Given the description of an element on the screen output the (x, y) to click on. 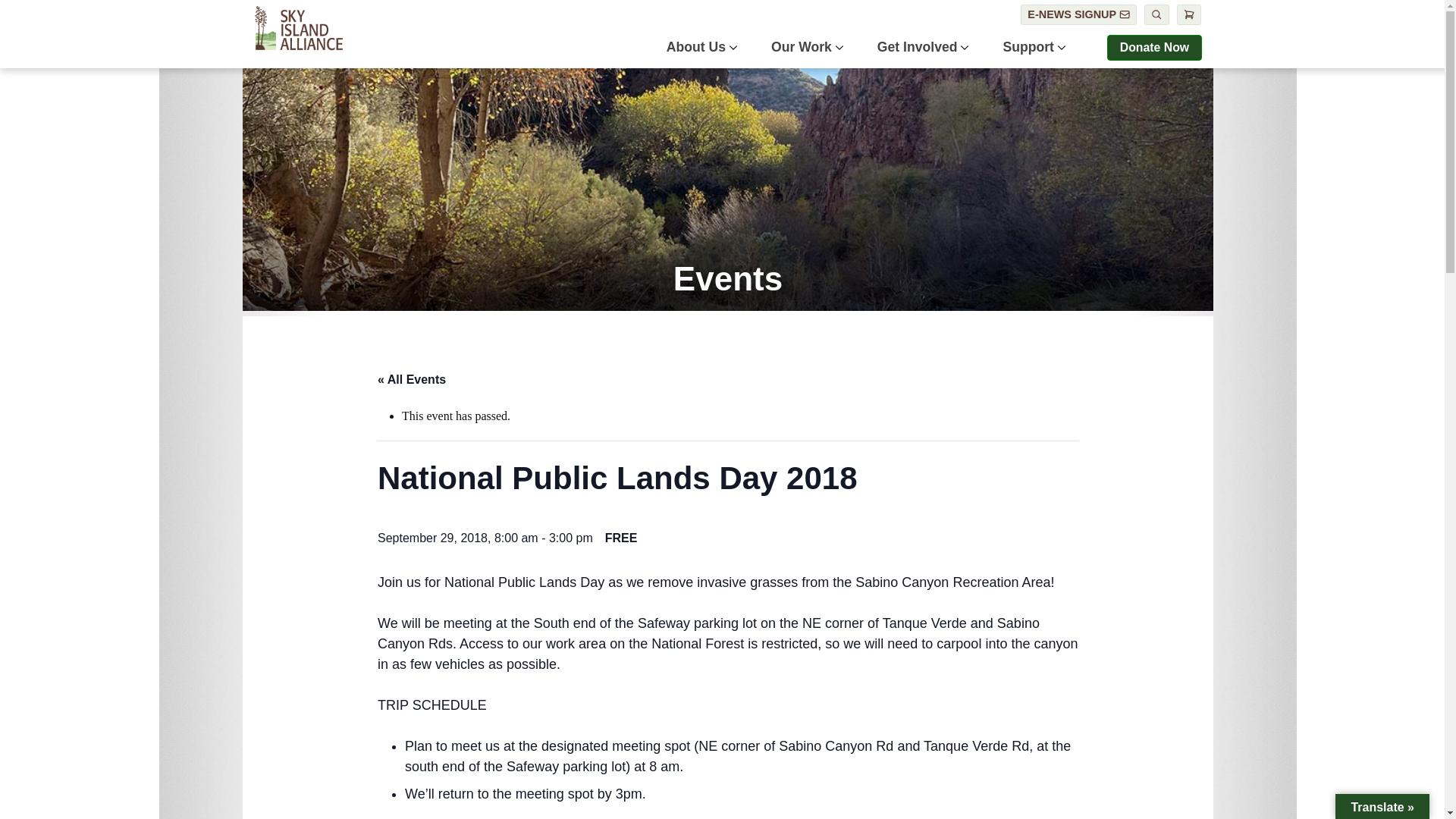
Shop (1188, 14)
E-news signup form (1078, 14)
Search (1156, 14)
E-NEWS SIGNUP (1078, 14)
